Given the description of an element on the screen output the (x, y) to click on. 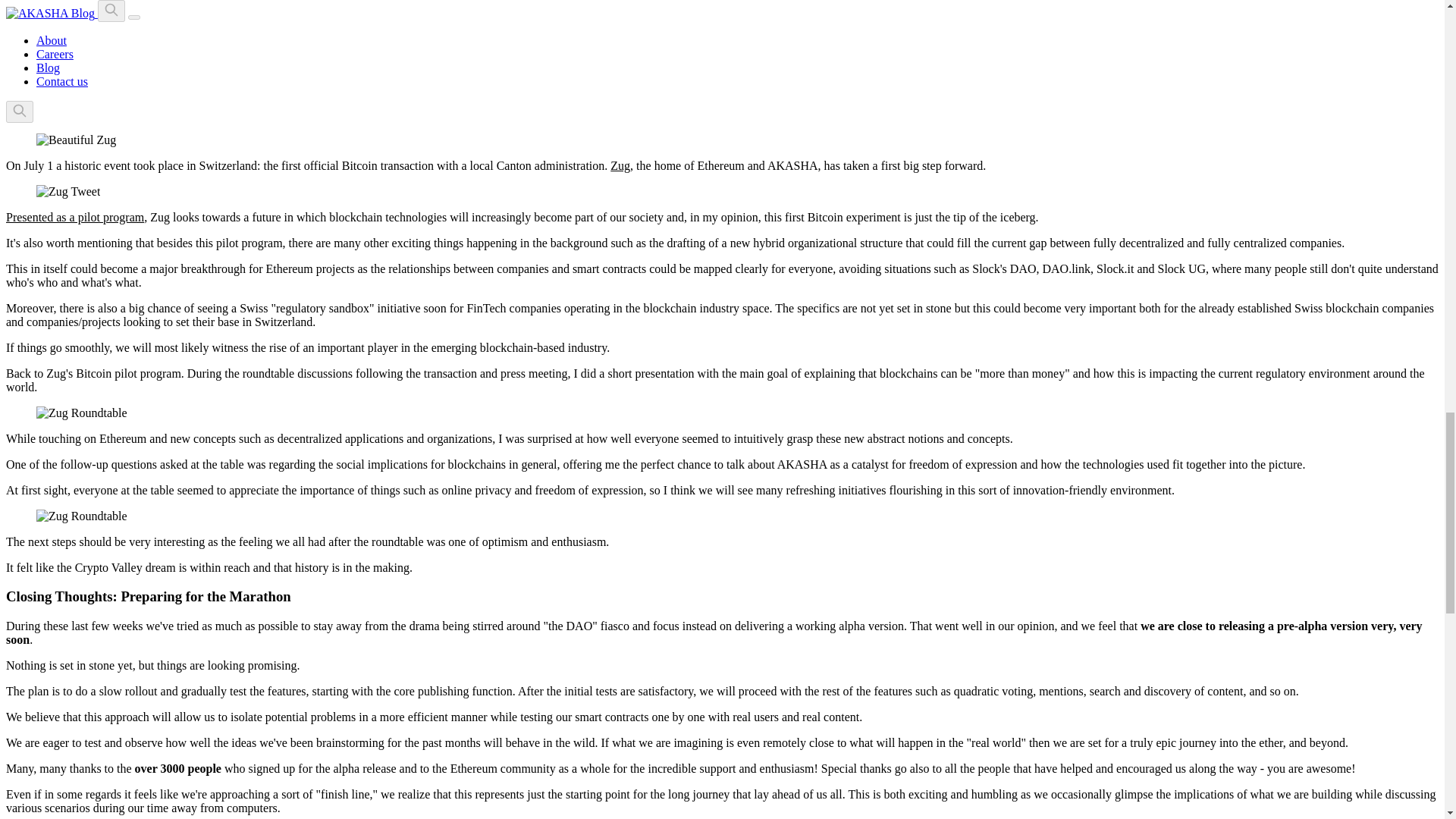
Presented as a pilot program (74, 216)
Zug (620, 164)
